Given the description of an element on the screen output the (x, y) to click on. 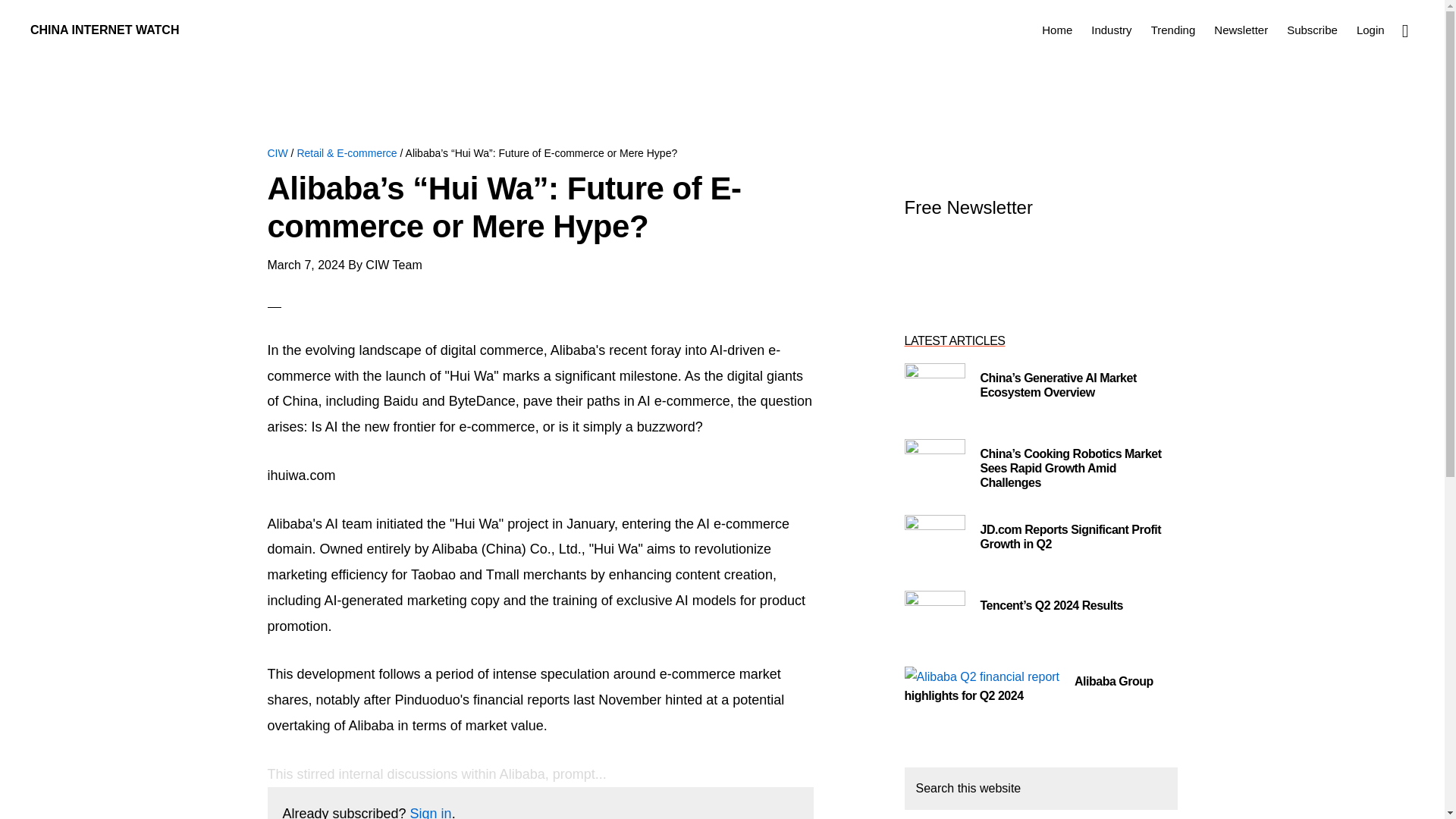
CHINA INTERNET WATCH (104, 29)
Industry (1110, 29)
Home (1056, 29)
